Given the description of an element on the screen output the (x, y) to click on. 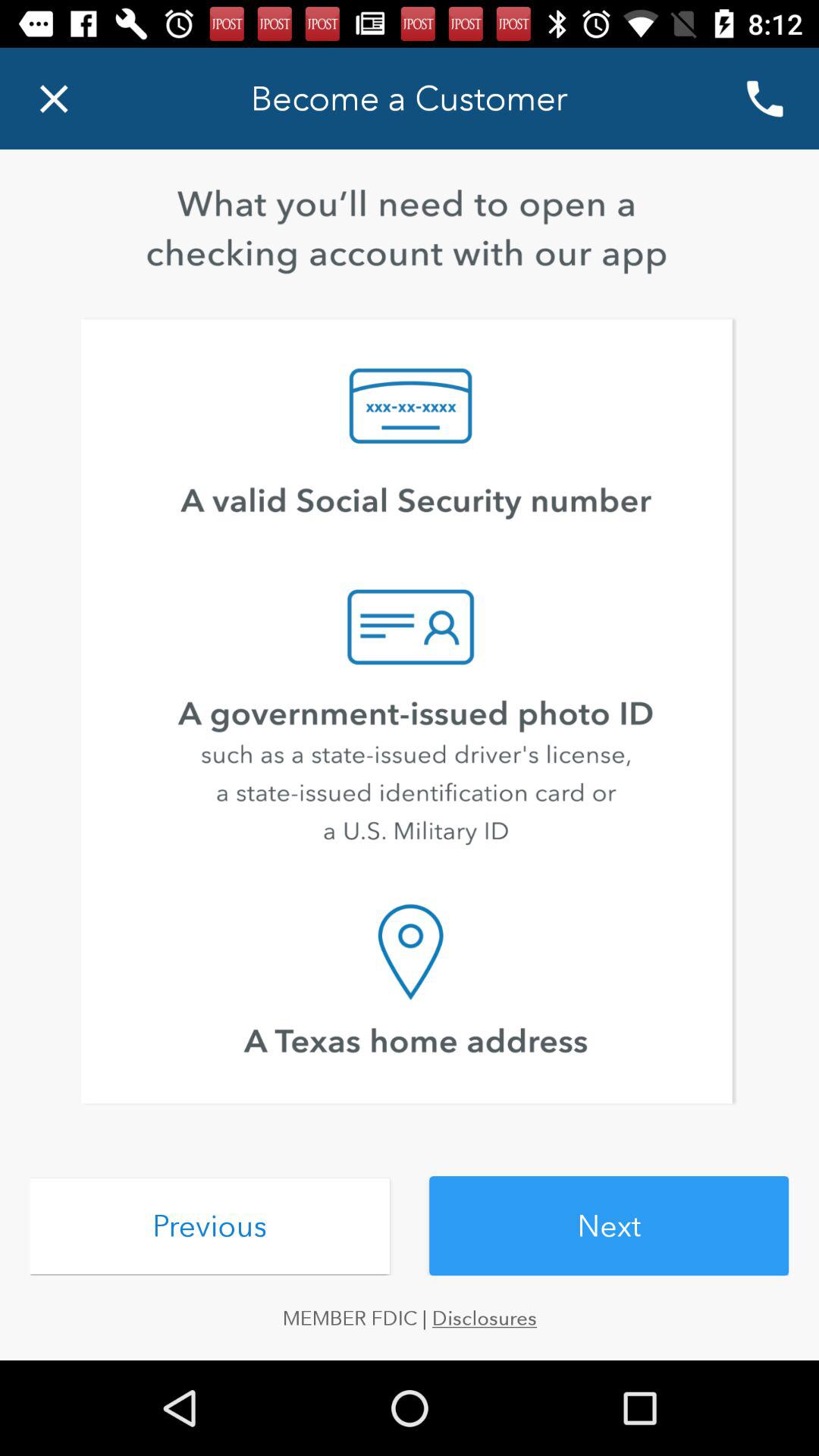
click item above member fdic | disclosures (608, 1225)
